Given the description of an element on the screen output the (x, y) to click on. 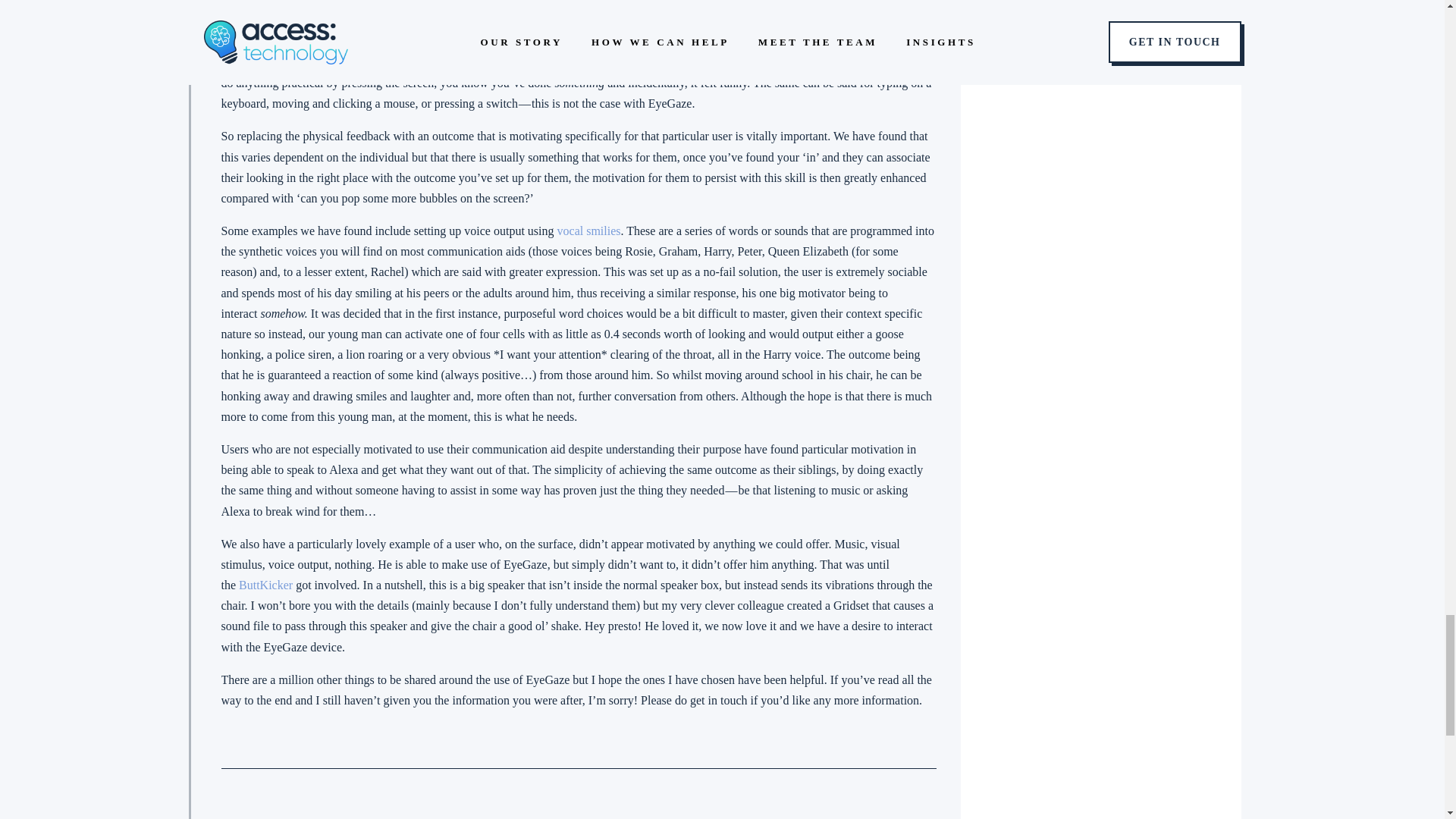
vocal smilies (589, 230)
ButtKicker  (266, 584)
